Given the description of an element on the screen output the (x, y) to click on. 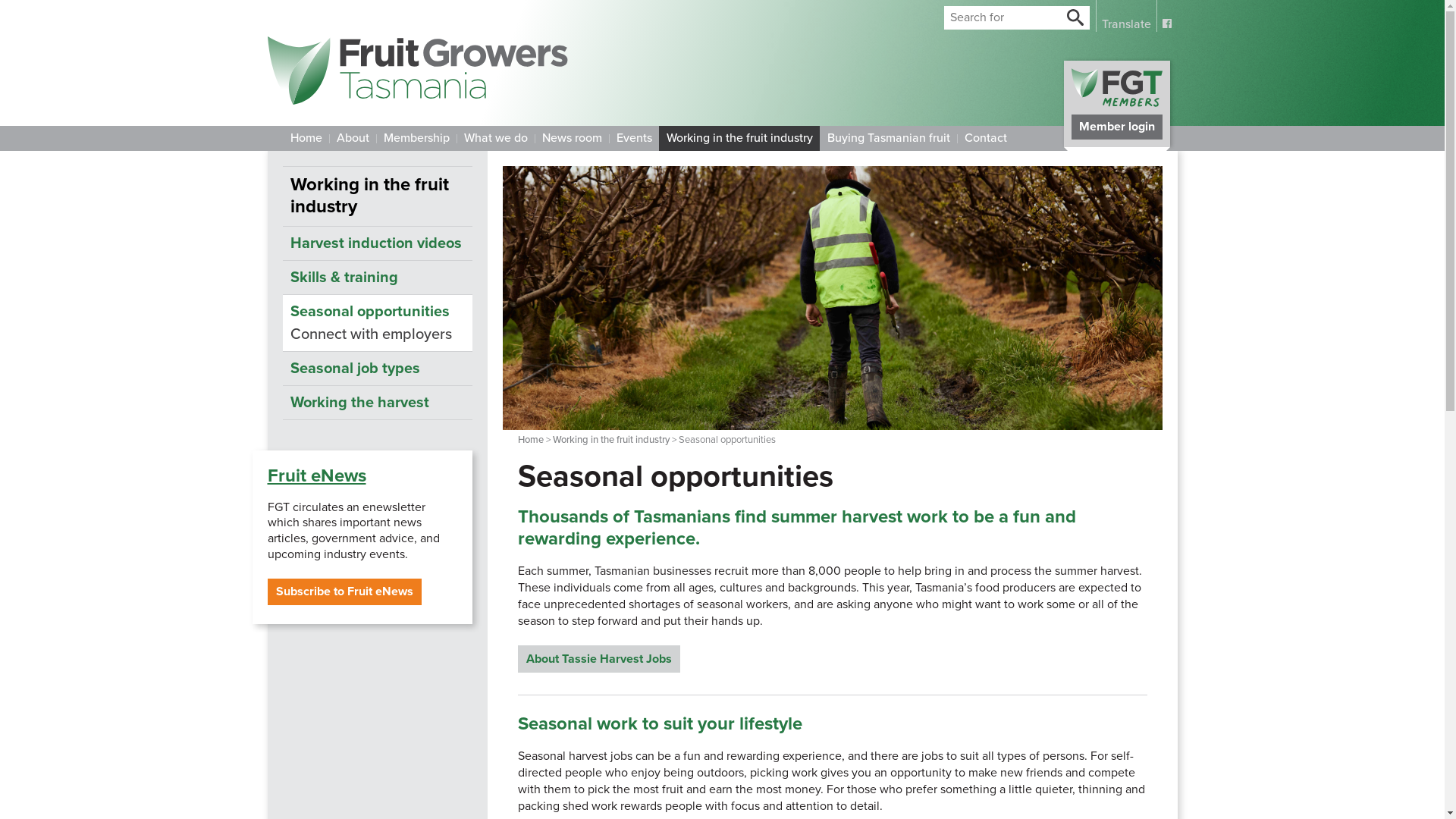
Home Element type: text (530, 439)
Seasonal opportunities Element type: text (376, 311)
News room Element type: text (570, 137)
Harvest induction videos Element type: text (376, 243)
Skills & training Element type: text (376, 277)
Facebook Element type: text (1165, 15)
Working in the fruit industry Element type: text (738, 137)
Connect with employers Element type: text (376, 334)
About Tassie Harvest Jobs Element type: text (598, 658)
Buying Tasmanian fruit Element type: text (887, 137)
Member login Element type: text (1116, 103)
Contact Element type: text (985, 137)
Translate Element type: text (1125, 15)
Events Element type: text (633, 137)
Membership Element type: text (416, 137)
Home Element type: text (305, 137)
Fruit eNews Element type: text (315, 475)
Working the harvest Element type: text (376, 402)
What we do Element type: text (495, 137)
Working in the fruit industry Element type: text (376, 195)
Search Element type: text (1074, 19)
Seasonal job types Element type: text (376, 368)
About Element type: text (352, 137)
Working in the fruit industry Element type: text (610, 439)
Subscribe to Fruit eNews Element type: text (343, 591)
